Given the description of an element on the screen output the (x, y) to click on. 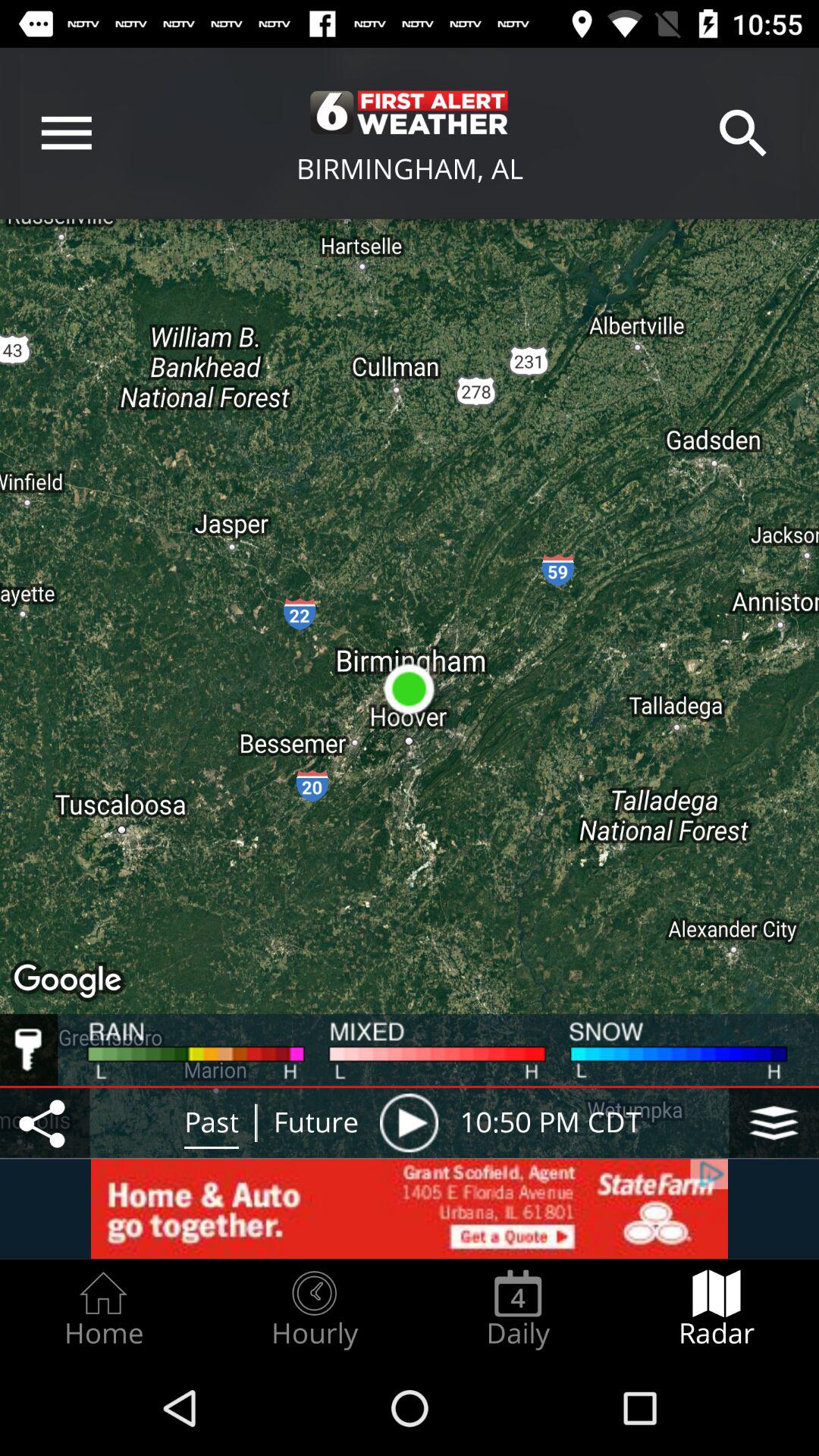
choose item to the right of the daily radio button (716, 1309)
